Given the description of an element on the screen output the (x, y) to click on. 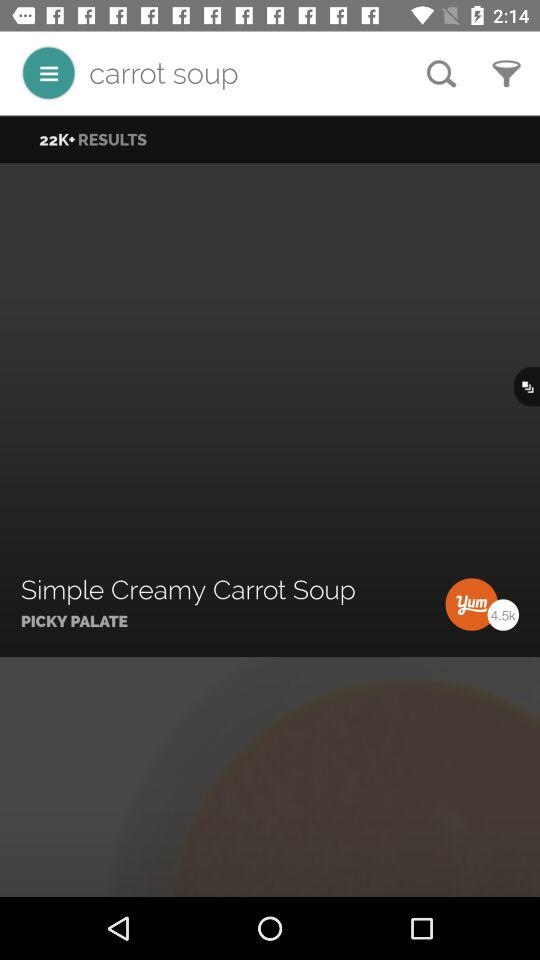
main menu (48, 72)
